Given the description of an element on the screen output the (x, y) to click on. 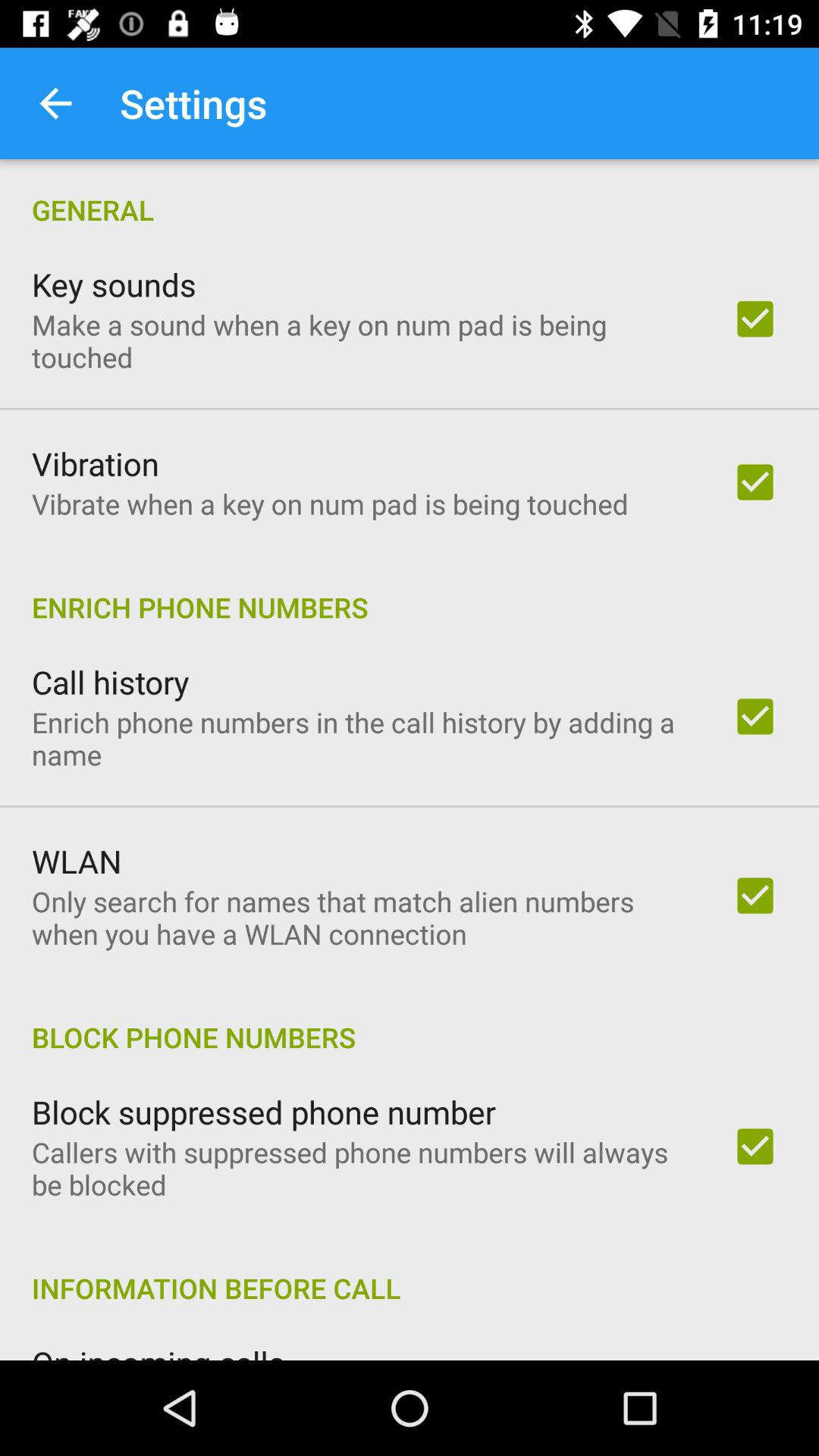
turn off icon above vibration icon (361, 340)
